Given the description of an element on the screen output the (x, y) to click on. 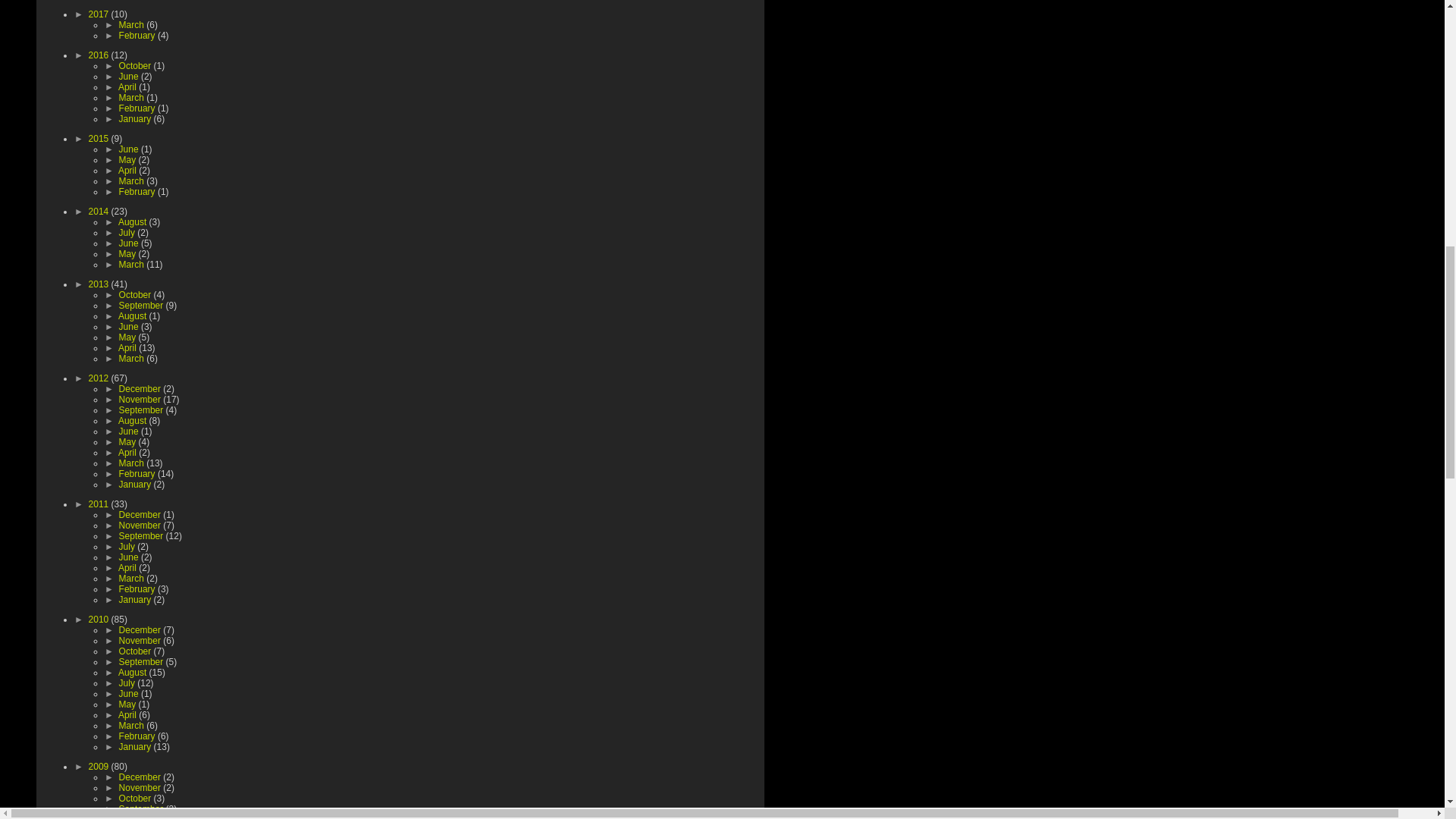
January (136, 118)
February (138, 35)
2017 (100, 14)
2016 (100, 54)
March (133, 97)
October (136, 65)
April (127, 86)
2015 (100, 138)
March (133, 24)
February (138, 108)
June (130, 76)
